Given the description of an element on the screen output the (x, y) to click on. 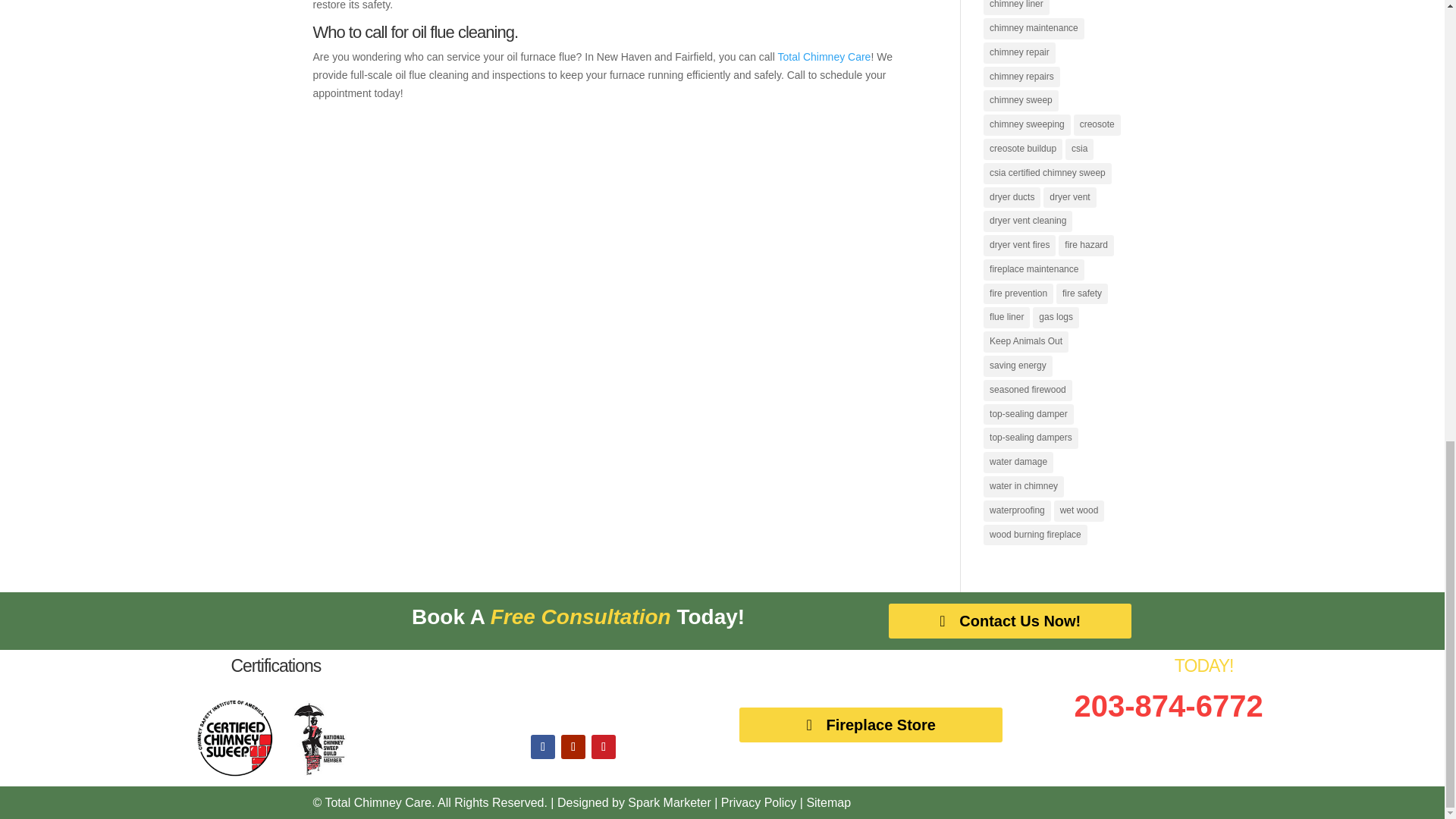
Follow on Pinterest (603, 746)
Follow on Youtube (572, 746)
CSIA (234, 772)
The systems and people to help local service businesses win. (668, 802)
Follow on Facebook (542, 746)
NCSG (317, 772)
Call Us Today (1168, 705)
